Given the description of an element on the screen output the (x, y) to click on. 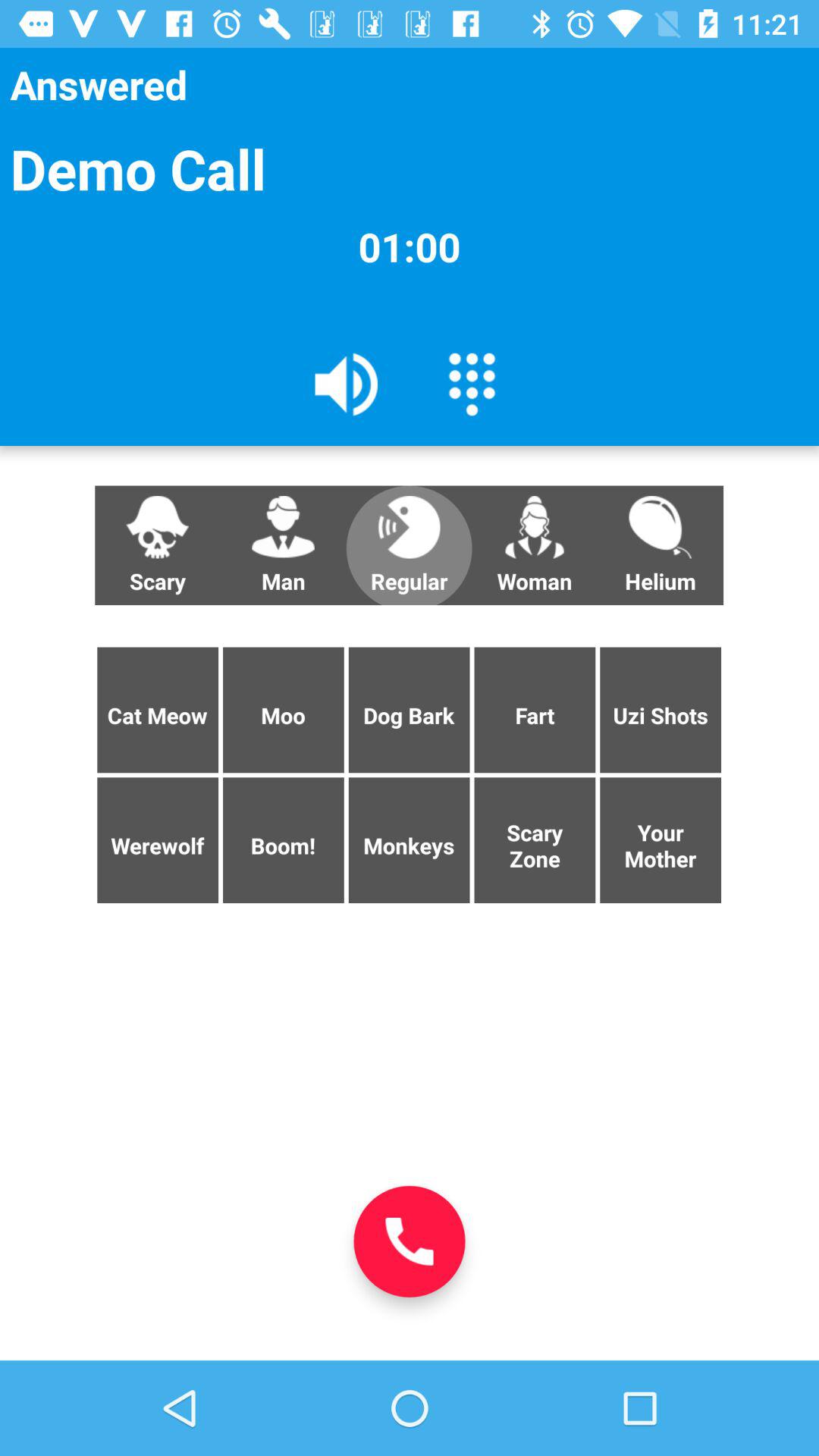
launch icon next to the man item (409, 545)
